Given the description of an element on the screen output the (x, y) to click on. 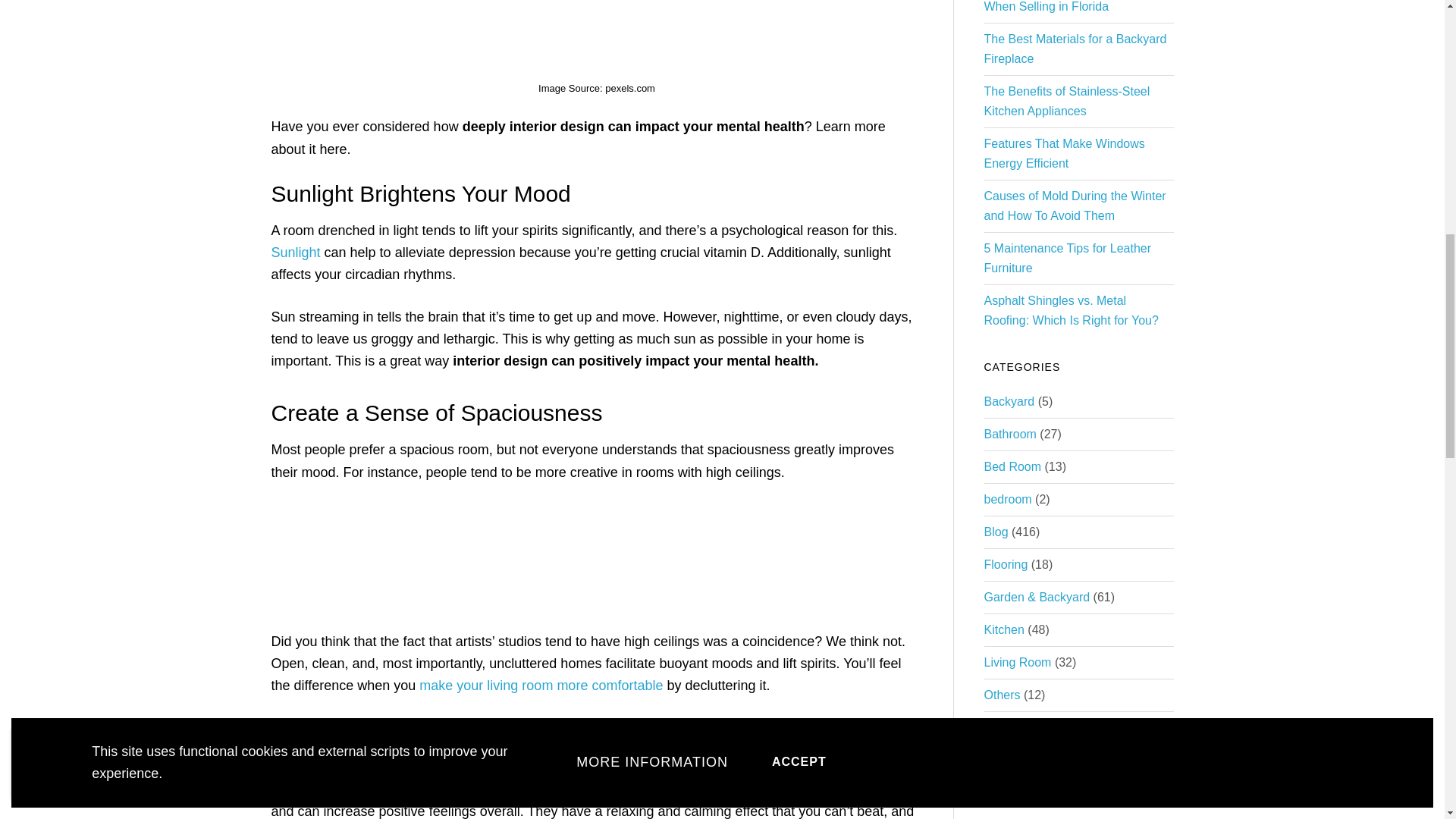
Advertisement (596, 29)
Sunlight (295, 252)
Studies show (645, 767)
Asphalt Shingles vs. Metal Roofing: Which Is Right for You? (1071, 310)
make your living room more comfortable (540, 685)
The Benefits of Stainless-Steel Kitchen Appliances (1067, 101)
The Best Materials for a Backyard Fireplace (1075, 48)
How To Increase Your Home Value When Selling in Florida (1078, 6)
Causes of Mold During the Winter and How To Avoid Them (1075, 205)
Features That Make Windows Energy Efficient (1064, 153)
5 Maintenance Tips for Leather Furniture (1067, 257)
